Given the description of an element on the screen output the (x, y) to click on. 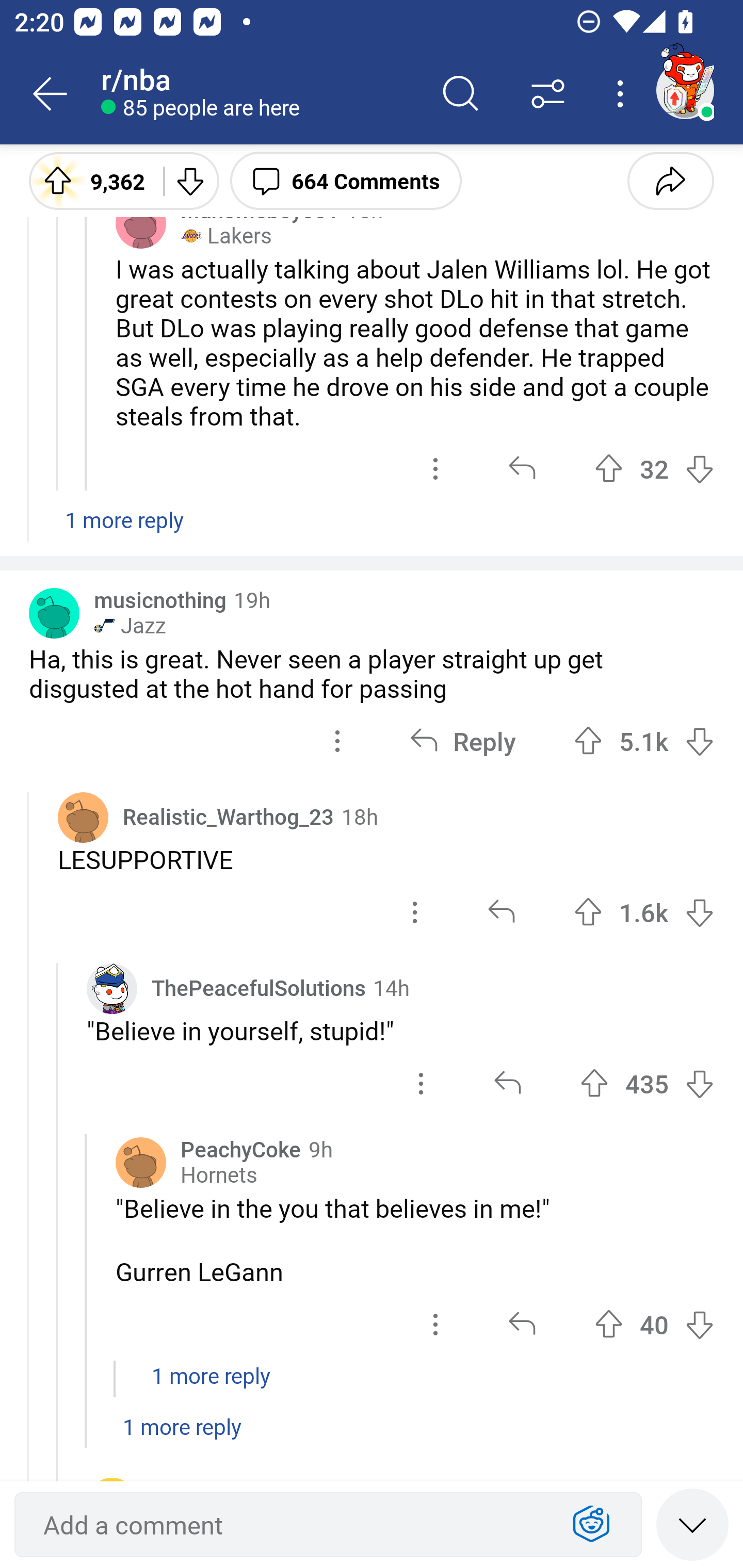
Back (50, 93)
TestAppium002 account (685, 90)
Search comments (460, 93)
Sort comments (547, 93)
More options (623, 93)
r/nba 85 people are here (259, 93)
Upvote 9,362 (88, 180)
Downvote (189, 180)
664 Comments (346, 180)
Share (670, 180)
Avatar (140, 223)
￼ Lakers (225, 235)
options (435, 468)
Upvote 32 32 votes Downvote (654, 468)
Upvote (608, 468)
Downvote (699, 468)
1 more reply (371, 530)
19h (252, 599)
Avatar (53, 613)
￼ Jazz (129, 625)
options (337, 741)
Reply (462, 741)
Upvote 5.1k 5149 votes Downvote (643, 741)
Upvote (587, 740)
Downvote (699, 740)
Avatar (82, 816)
18h (359, 816)
LESUPPORTIVE (385, 859)
options (414, 912)
Upvote 1.6k 1576 votes Downvote (643, 912)
Upvote (587, 912)
Downvote (699, 912)
Custom avatar (111, 987)
14h (390, 986)
"Believe in yourself, stupid!" (400, 1029)
options (420, 1083)
Upvote 435 435 votes Downvote (647, 1083)
Upvote (594, 1083)
Downvote (699, 1083)
9h (320, 1148)
Avatar (140, 1162)
Hornets (218, 1174)
options (435, 1324)
Upvote 40 40 votes Downvote (654, 1324)
Upvote (608, 1324)
Downvote (699, 1324)
1 more reply (371, 1386)
1 more reply (371, 1436)
Speed read (692, 1524)
Add a comment (291, 1524)
Show Expressions (590, 1524)
